Given the description of an element on the screen output the (x, y) to click on. 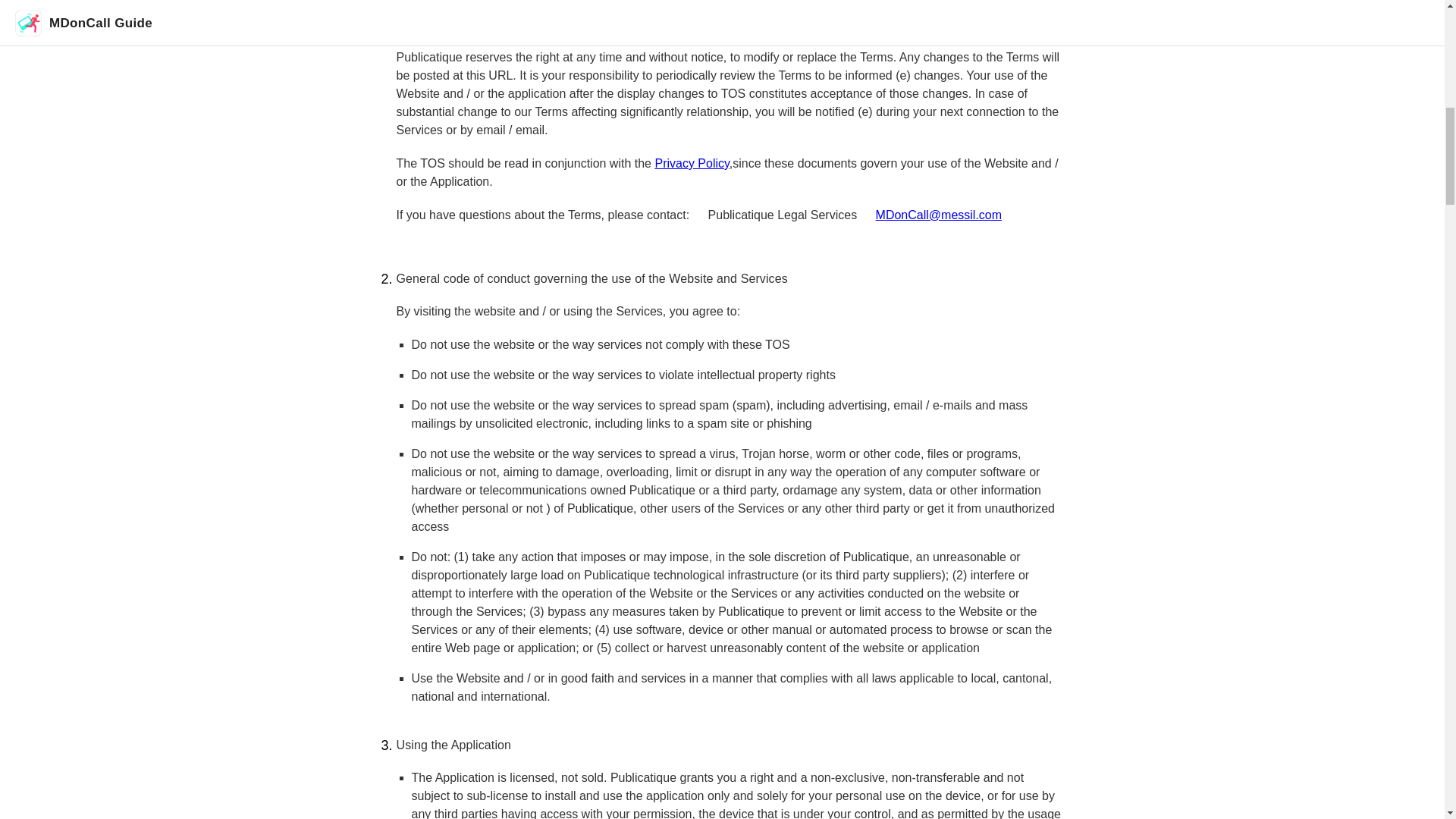
Privacy Policy (691, 163)
